Given the description of an element on the screen output the (x, y) to click on. 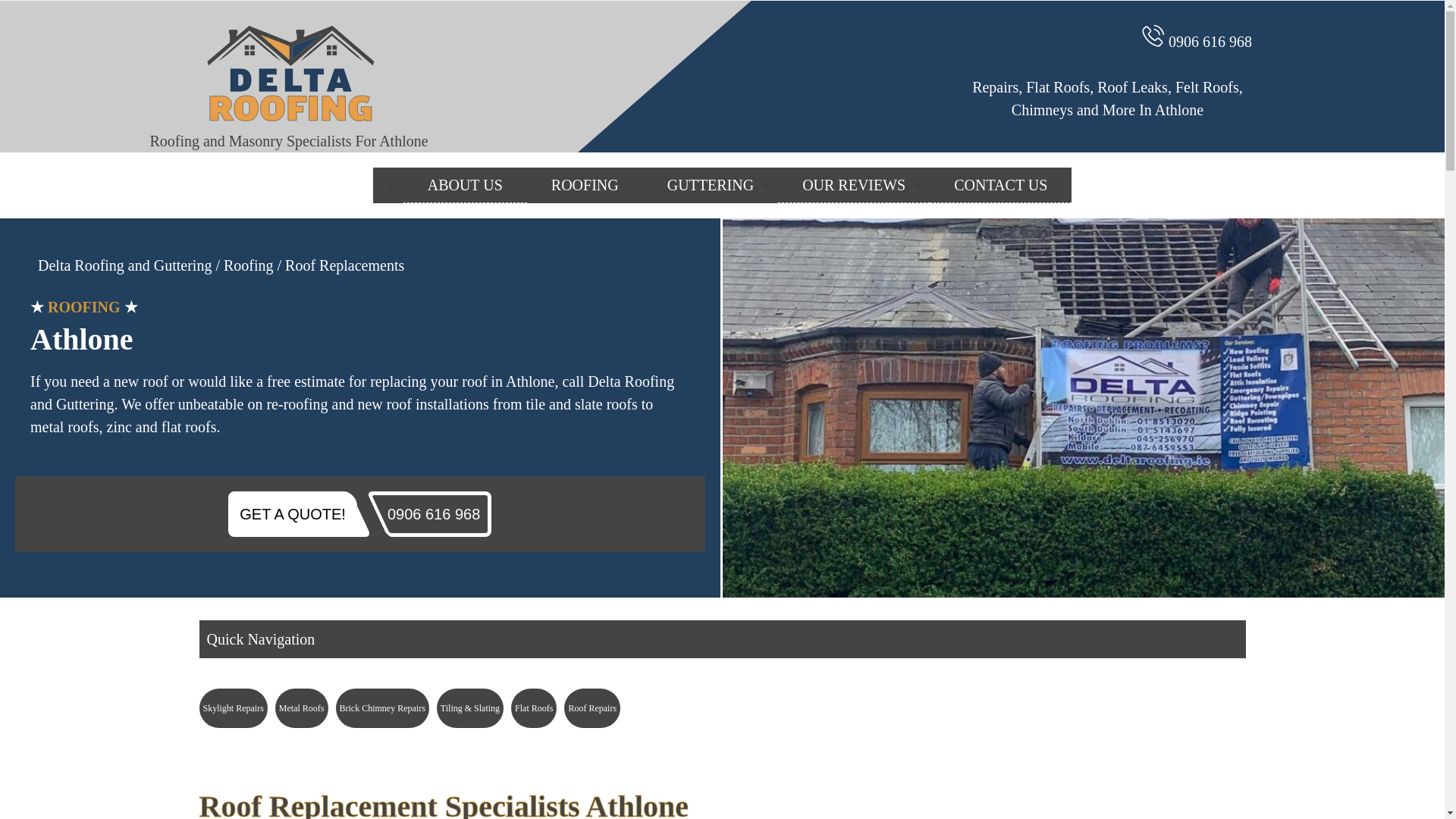
Delta Roofing and Guttering (124, 265)
GUTTERING (710, 184)
CONTACT US (1000, 185)
GET A QUOTE! (293, 514)
Roofing (251, 265)
ROOFING (585, 184)
ABOUT US (465, 185)
0906 616 968 (433, 514)
OUR REVIEWS (853, 185)
0906 616 968 (1210, 41)
